Given the description of an element on the screen output the (x, y) to click on. 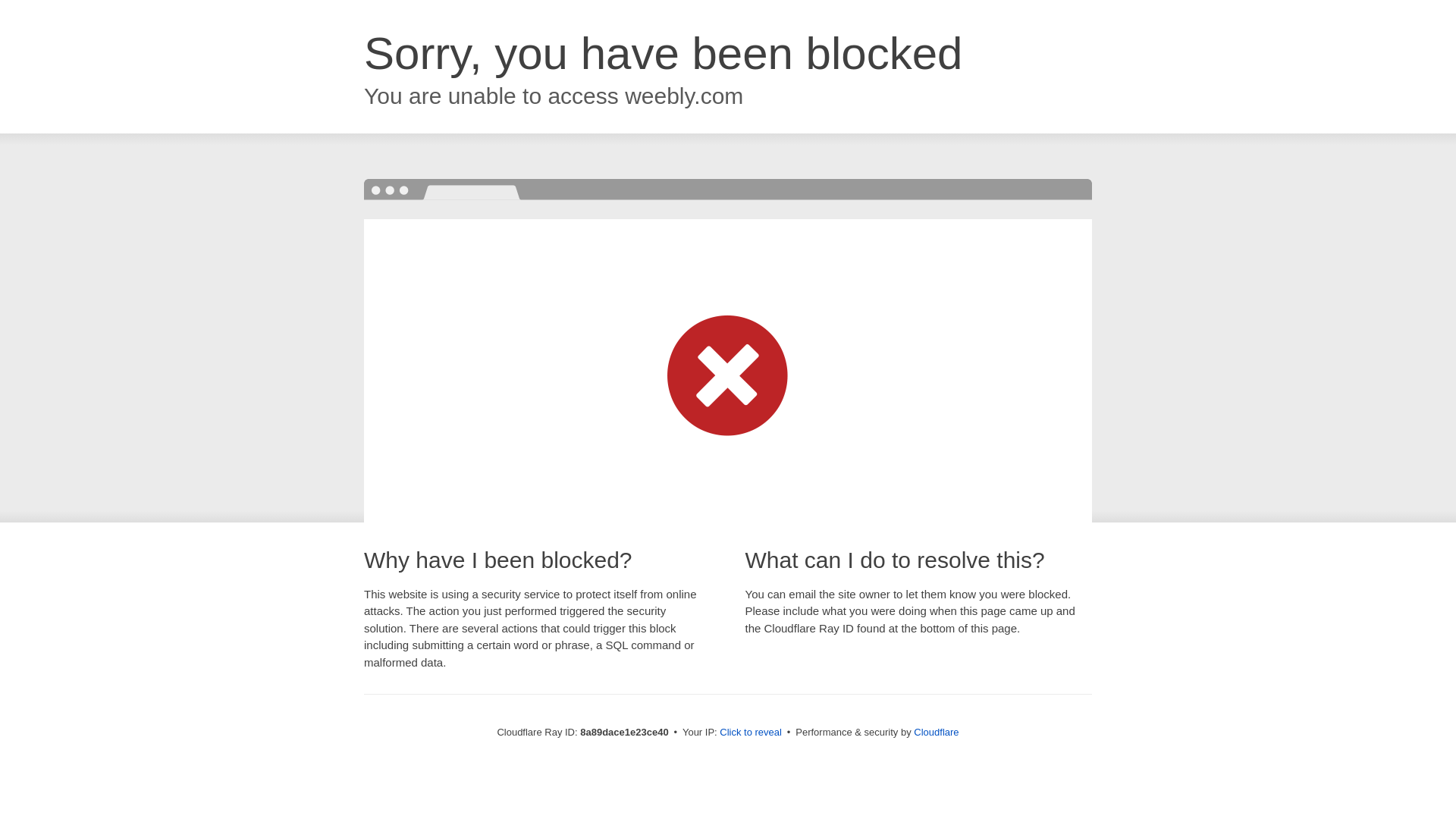
Click to reveal (750, 732)
Cloudflare (936, 731)
